Given the description of an element on the screen output the (x, y) to click on. 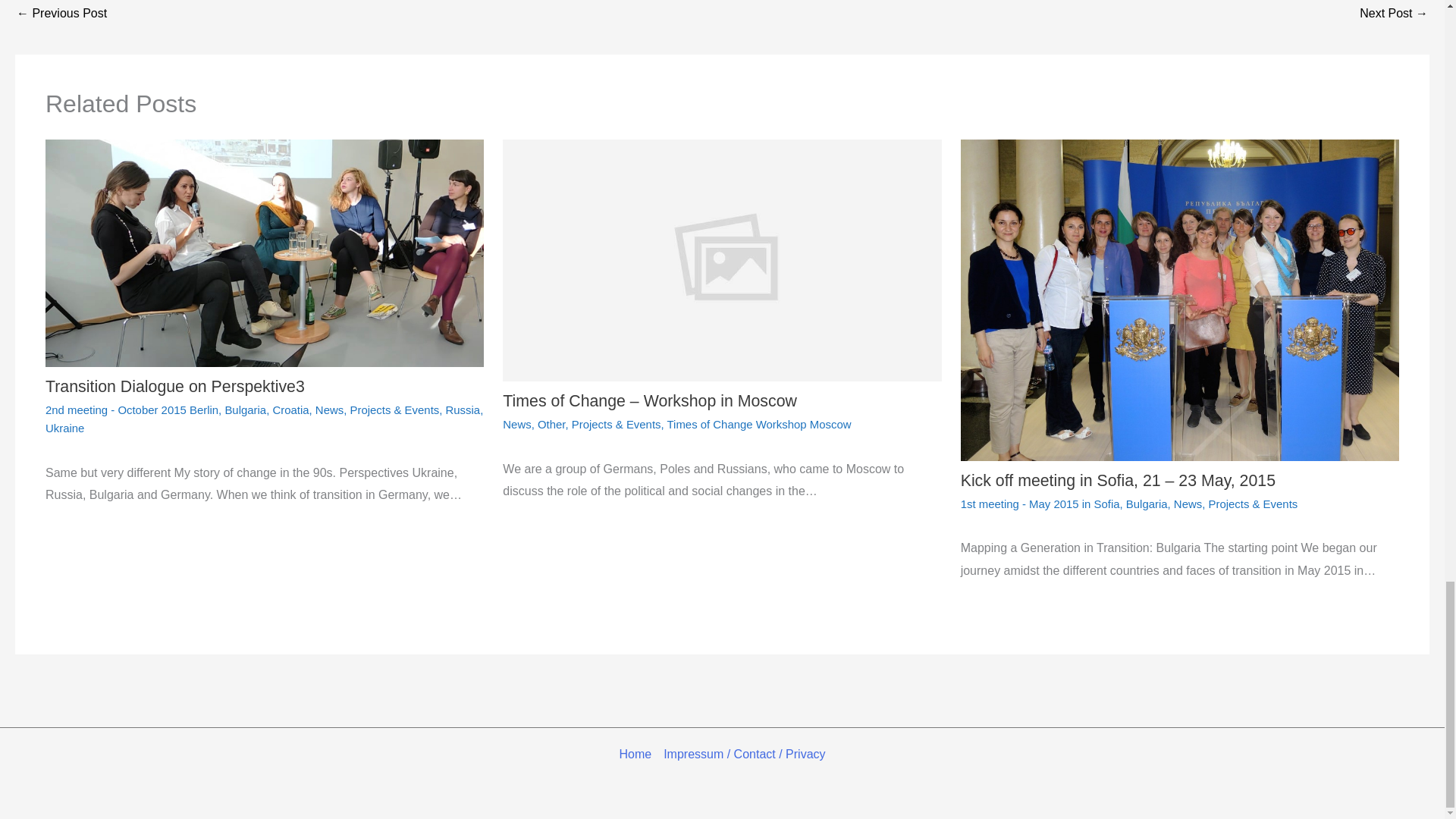
Kick Off Workshop Sofia - Spring 2015 (61, 14)
1st meeting - May 2015 Sofia (1393, 14)
